Given the description of an element on the screen output the (x, y) to click on. 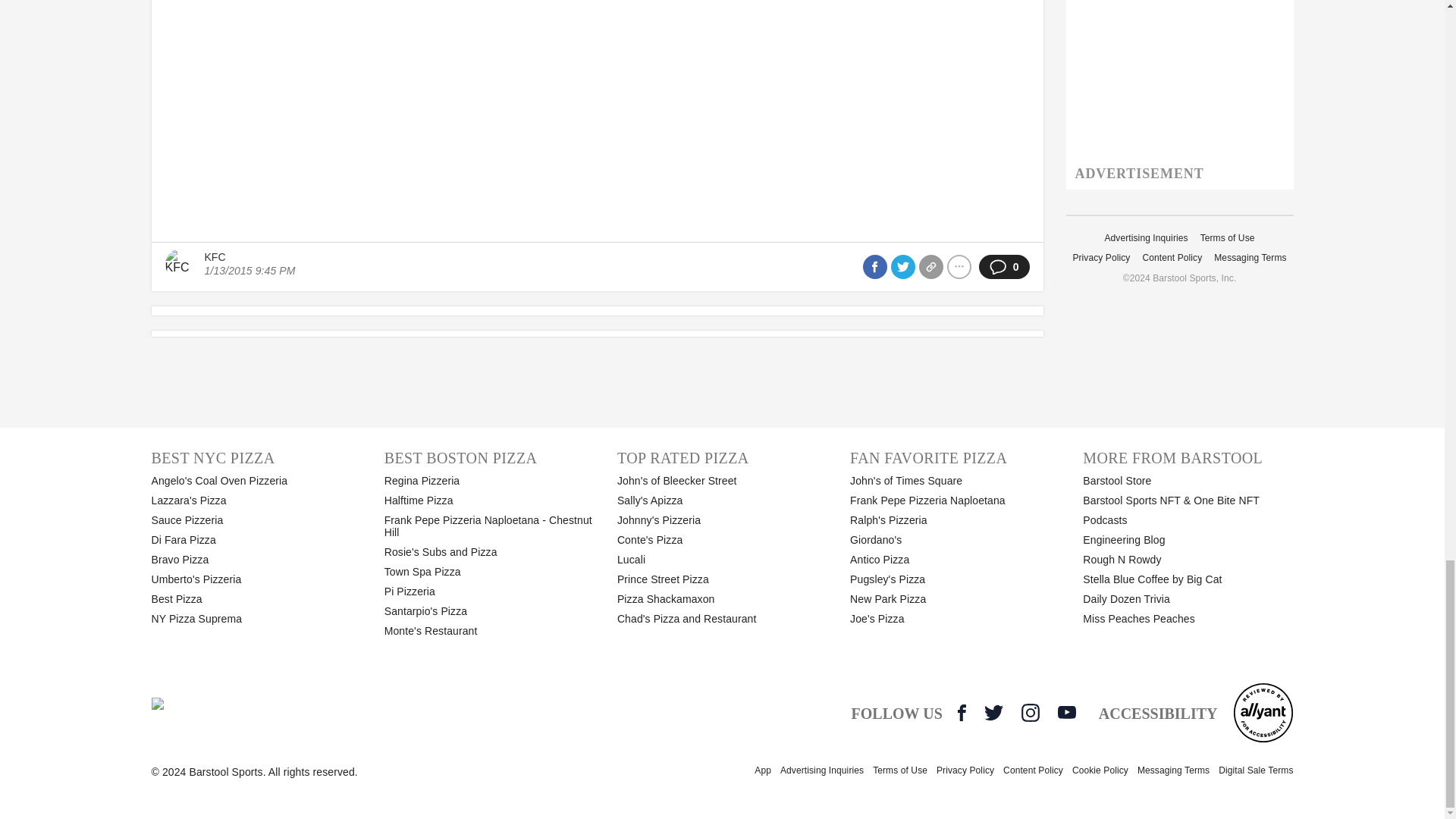
Reviewed by Allyant for accessibility (1263, 712)
Twitter Icon (993, 712)
YouTube Icon (1066, 711)
Instagram Icon (1030, 712)
